Given the description of an element on the screen output the (x, y) to click on. 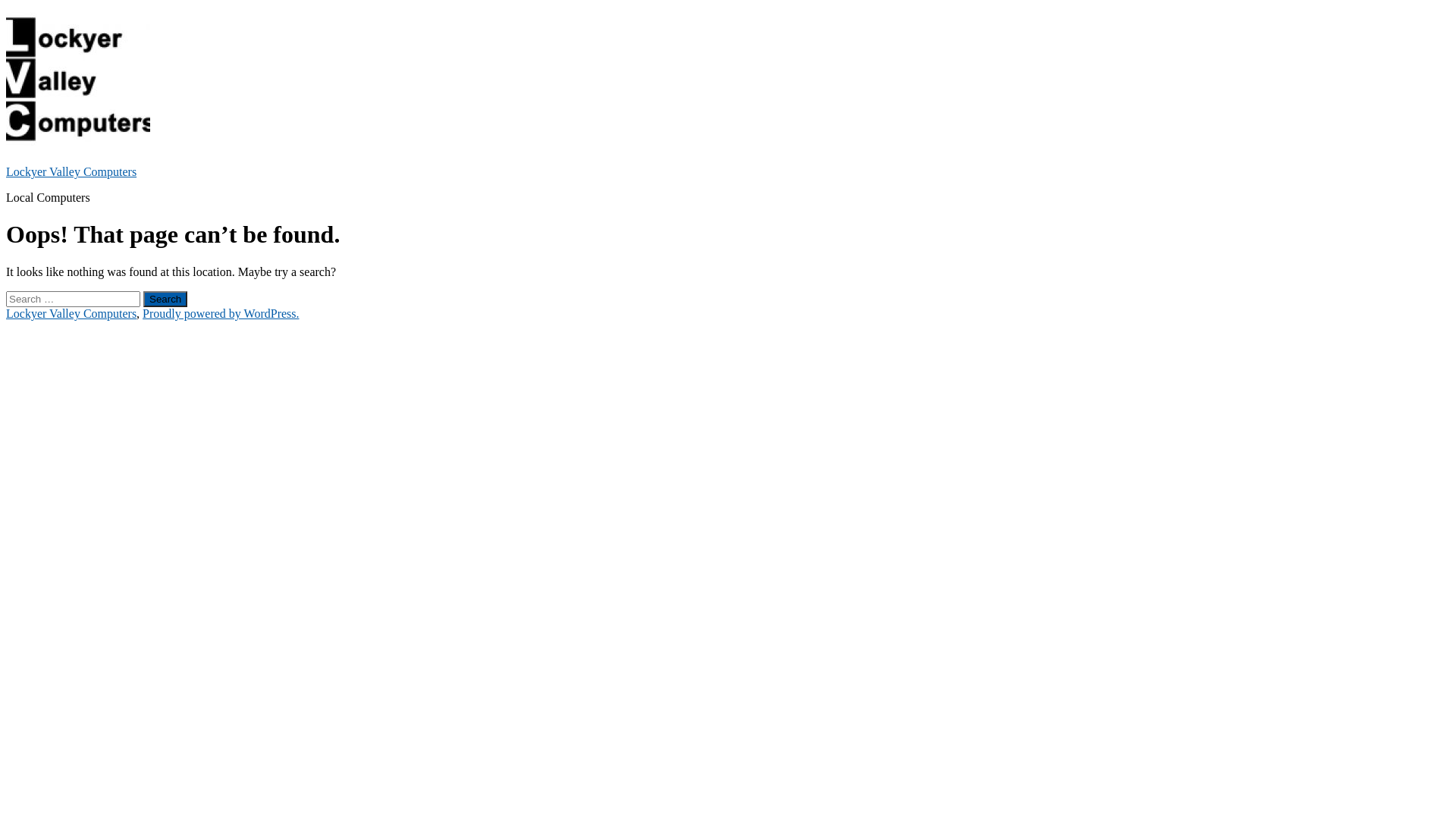
Skip to content Element type: text (5, 5)
Lockyer Valley Computers Element type: text (71, 171)
Lockyer Valley Computers Element type: text (71, 313)
Search Element type: text (165, 299)
Proudly powered by WordPress. Element type: text (220, 313)
